Given the description of an element on the screen output the (x, y) to click on. 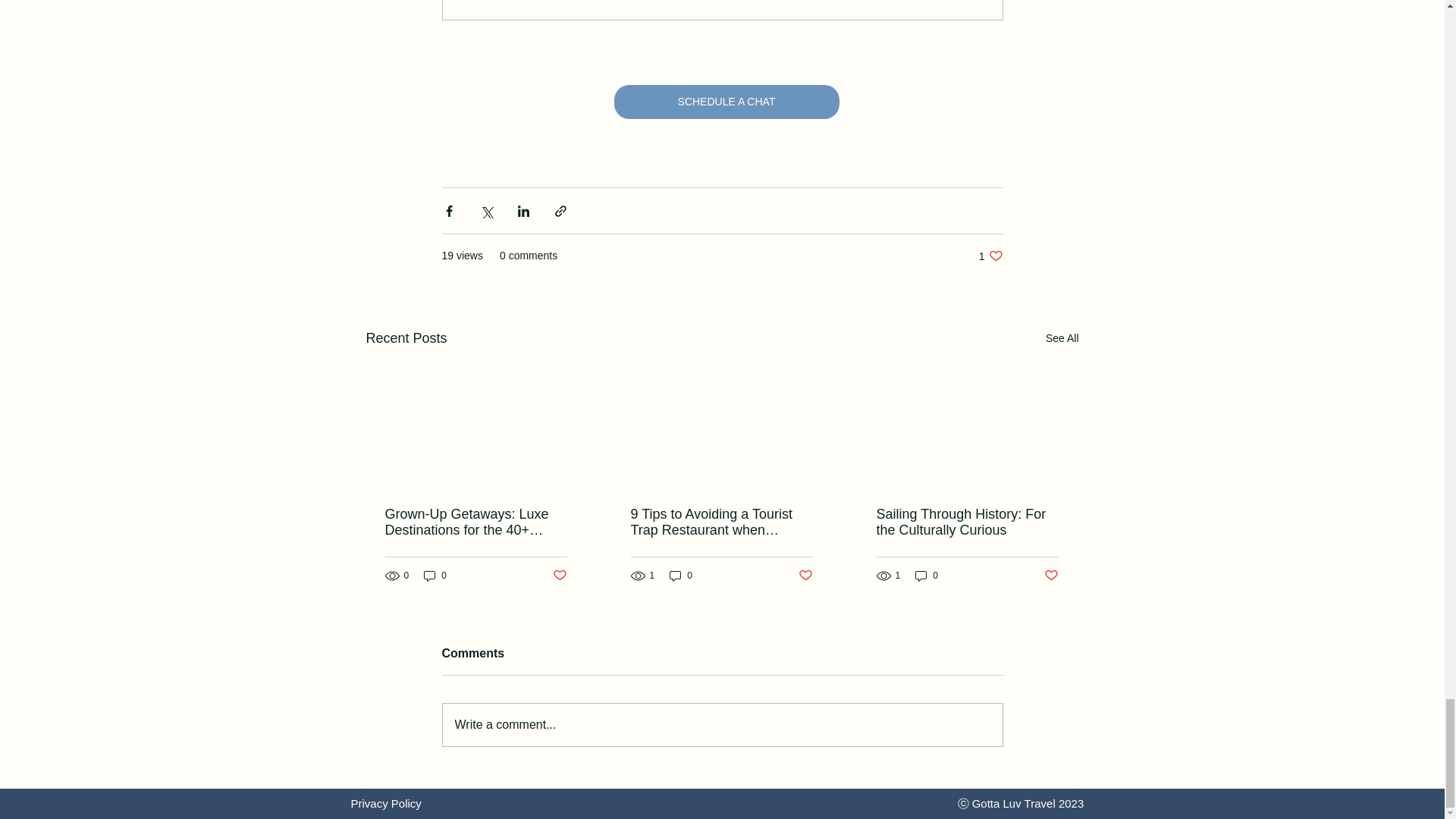
Post not marked as liked (804, 575)
See All (1061, 338)
Write a comment... (722, 724)
Post not marked as liked (1050, 575)
0 (926, 575)
Sailing Through History: For the Culturally Curious (967, 522)
Post not marked as liked (990, 255)
SCHEDULE A CHAT (558, 575)
0 (725, 101)
0 (681, 575)
